Given the description of an element on the screen output the (x, y) to click on. 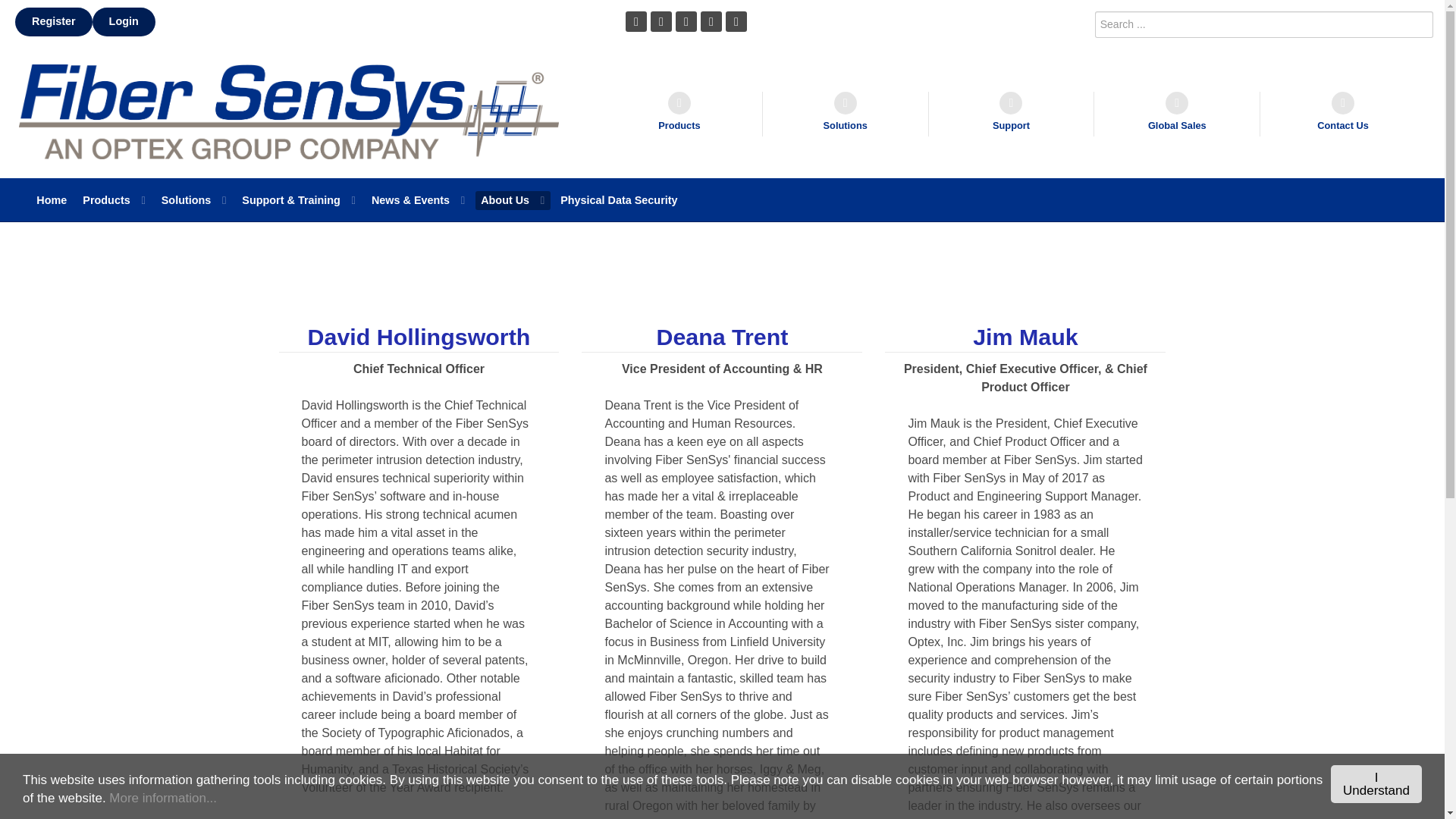
Login (124, 21)
Support (1011, 113)
Solutions (845, 113)
Contact Us (1342, 113)
Global Sales  (1177, 113)
Products (679, 113)
Products (114, 199)
Home (51, 199)
Solutions (845, 113)
Contact Us (1342, 113)
Home (51, 199)
Products (114, 199)
Products (679, 113)
Global Sales (1177, 113)
Support (1011, 113)
